Given the description of an element on the screen output the (x, y) to click on. 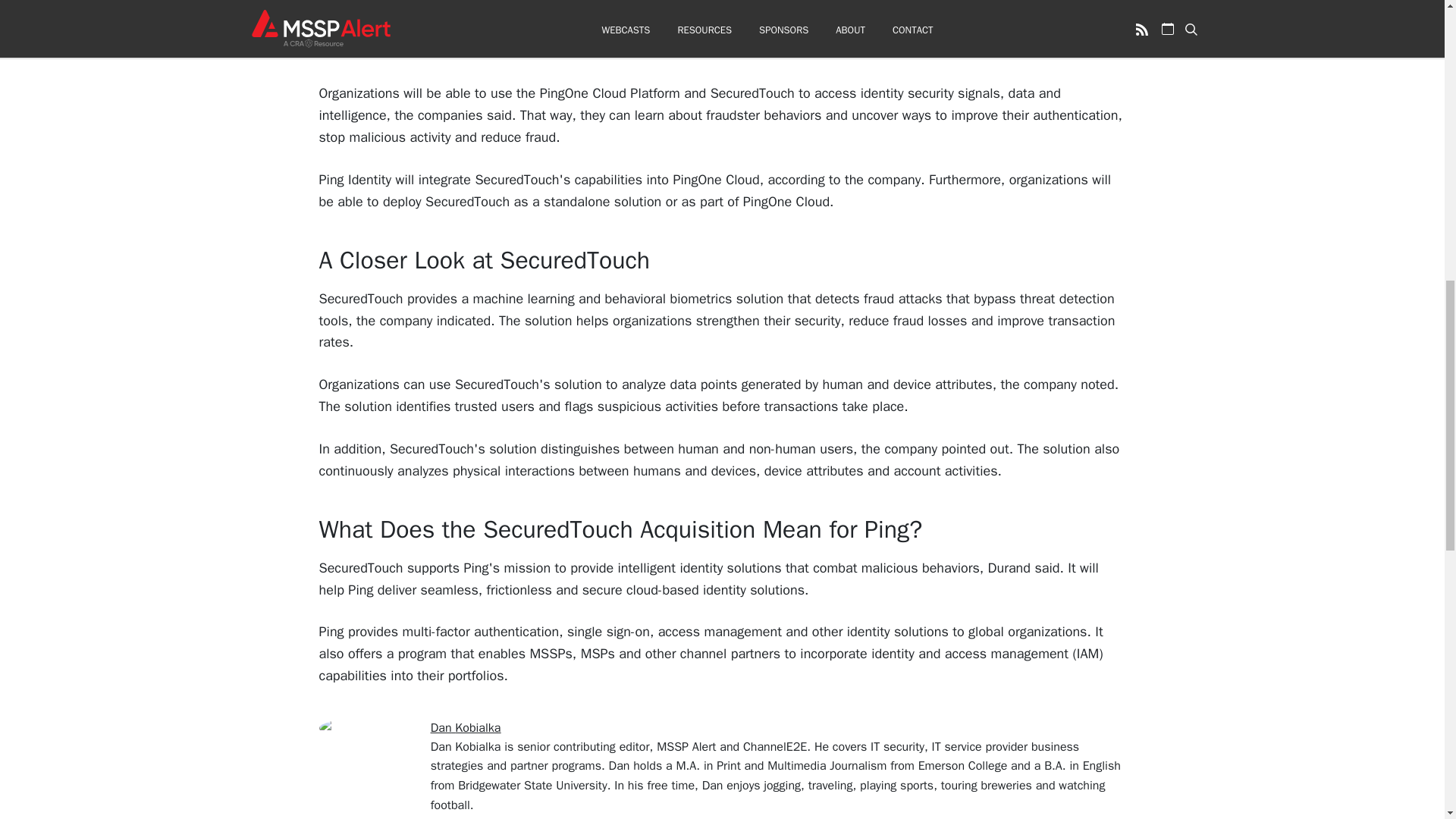
Dan Kobialka (465, 727)
ChannelE2E (793, 29)
